Given the description of an element on the screen output the (x, y) to click on. 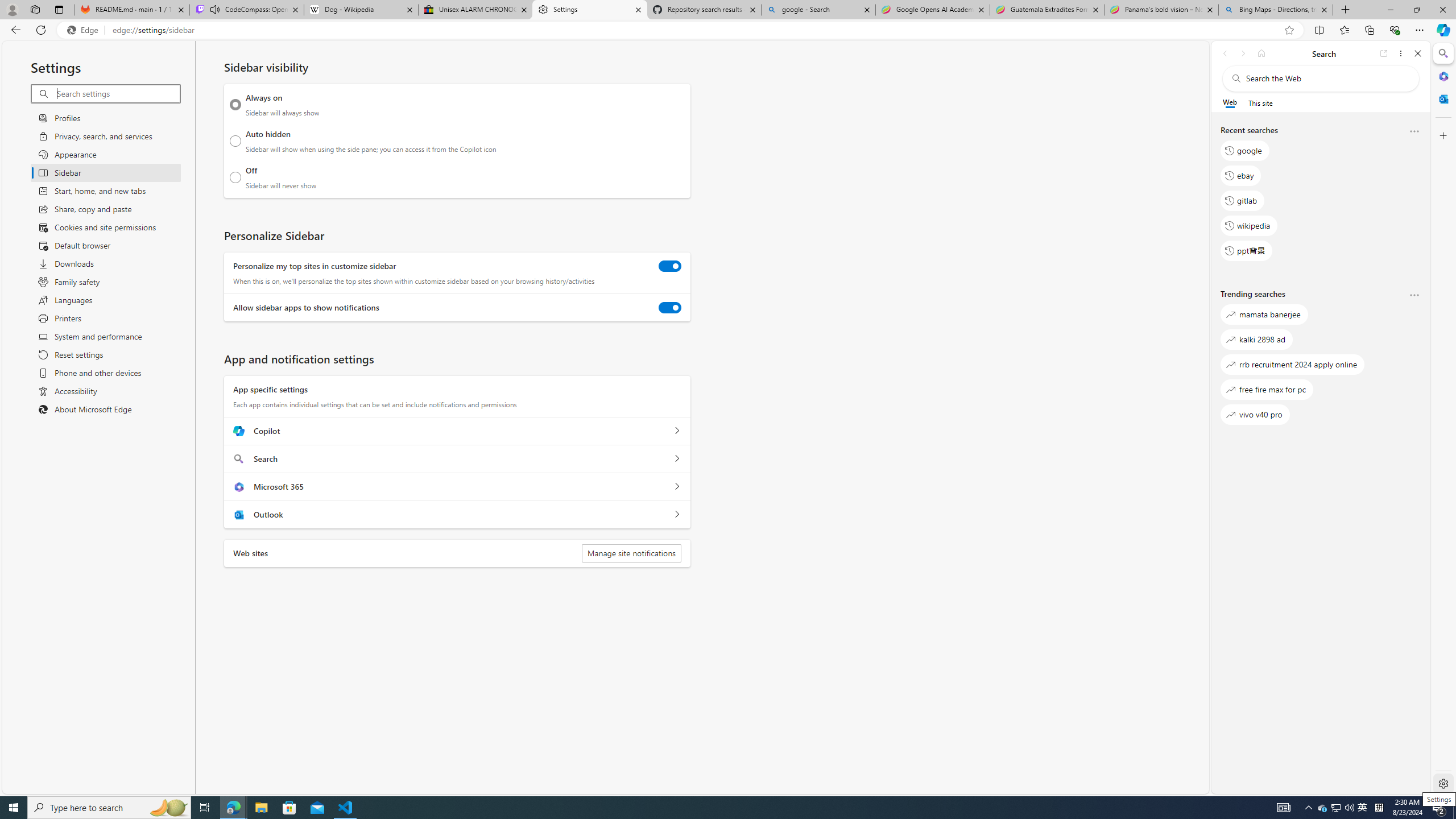
Google Opens AI Academy for Startups - Nearshore Americas (932, 9)
Manage site notifications (630, 553)
Forward (1242, 53)
gitlab (1242, 200)
wikipedia (1249, 225)
google - Search (818, 9)
Dog - Wikipedia (360, 9)
Always on Sidebar will always show (235, 104)
Address and search bar (695, 29)
